Given the description of an element on the screen output the (x, y) to click on. 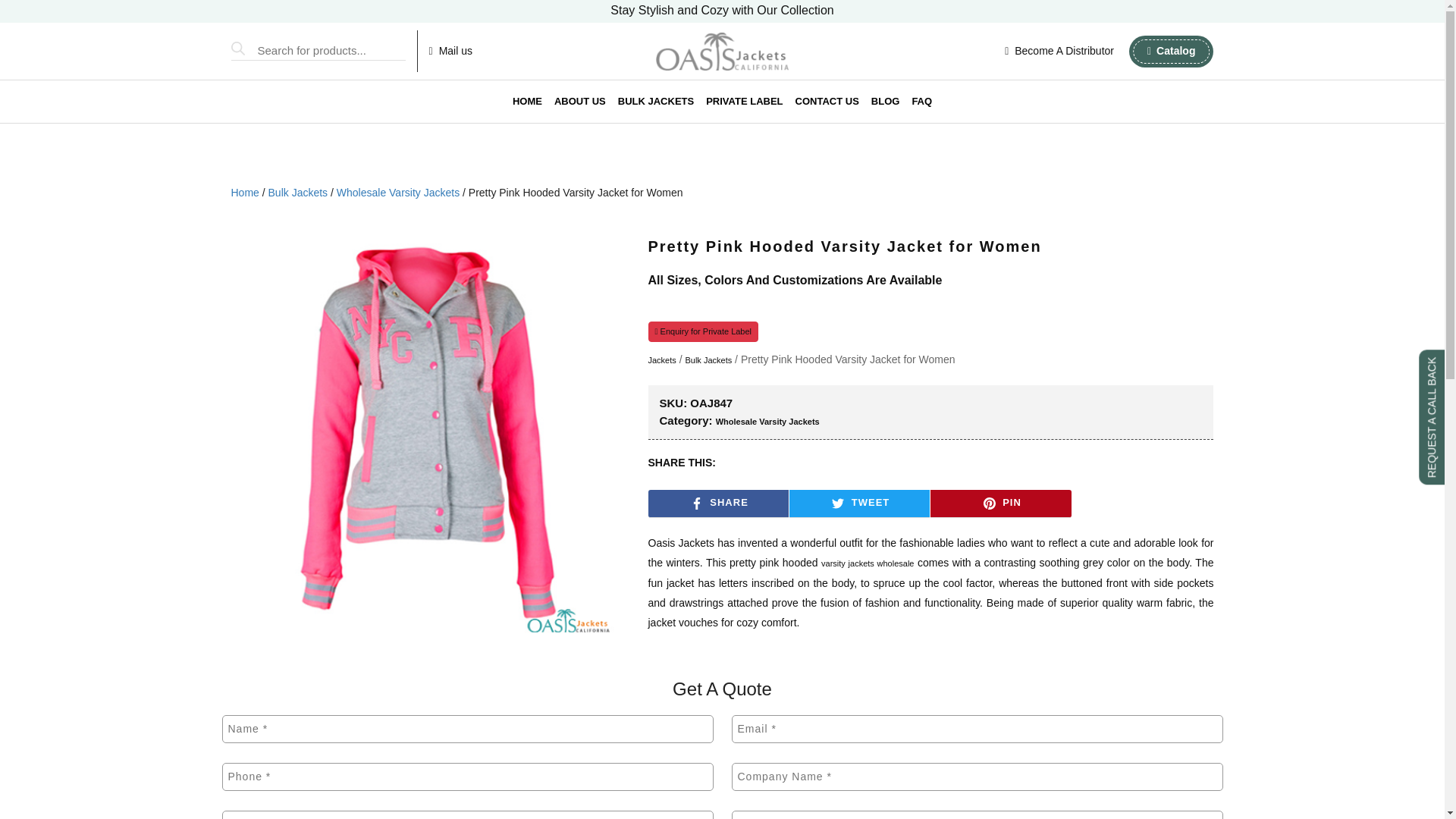
BULK JACKETS (655, 101)
About Us (579, 101)
Elevate Your Look with Our Fashionable Jackets (721, 11)
Become A Distributor (1058, 50)
Bulk Jackets (655, 101)
TWITTER (837, 503)
Mail us (450, 50)
Catalog (1170, 50)
ABOUT US (579, 101)
PINTEREST (989, 503)
FACEBOOK (696, 503)
